Given the description of an element on the screen output the (x, y) to click on. 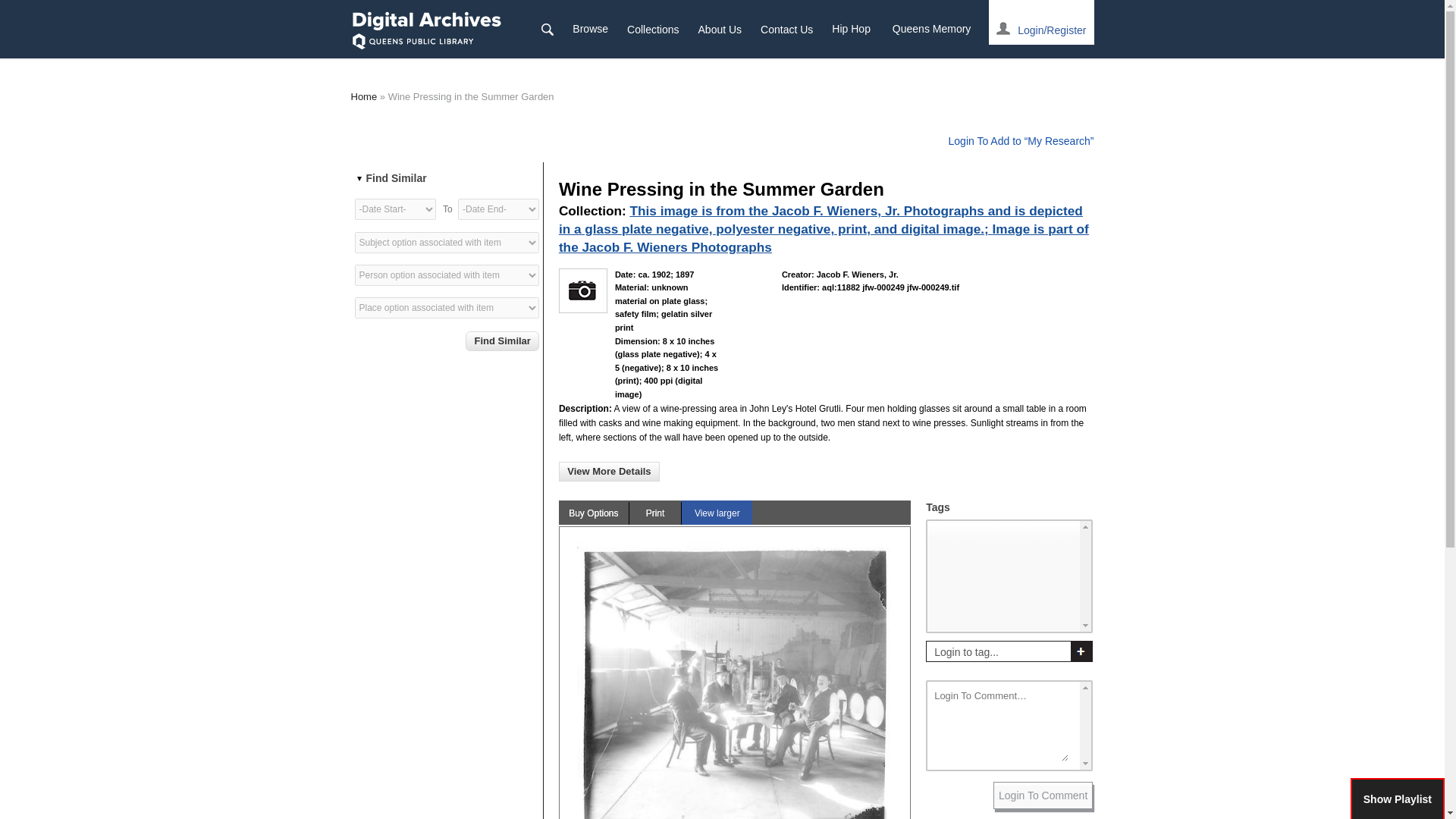
Search for Image is part of the Jacob F. Wieners Photographs (824, 237)
Home (426, 29)
Contact Us (786, 28)
Queens Memory (922, 28)
Buy Options (593, 513)
View larger (716, 512)
Find Similar (501, 341)
Find Similar (501, 341)
